Given the description of an element on the screen output the (x, y) to click on. 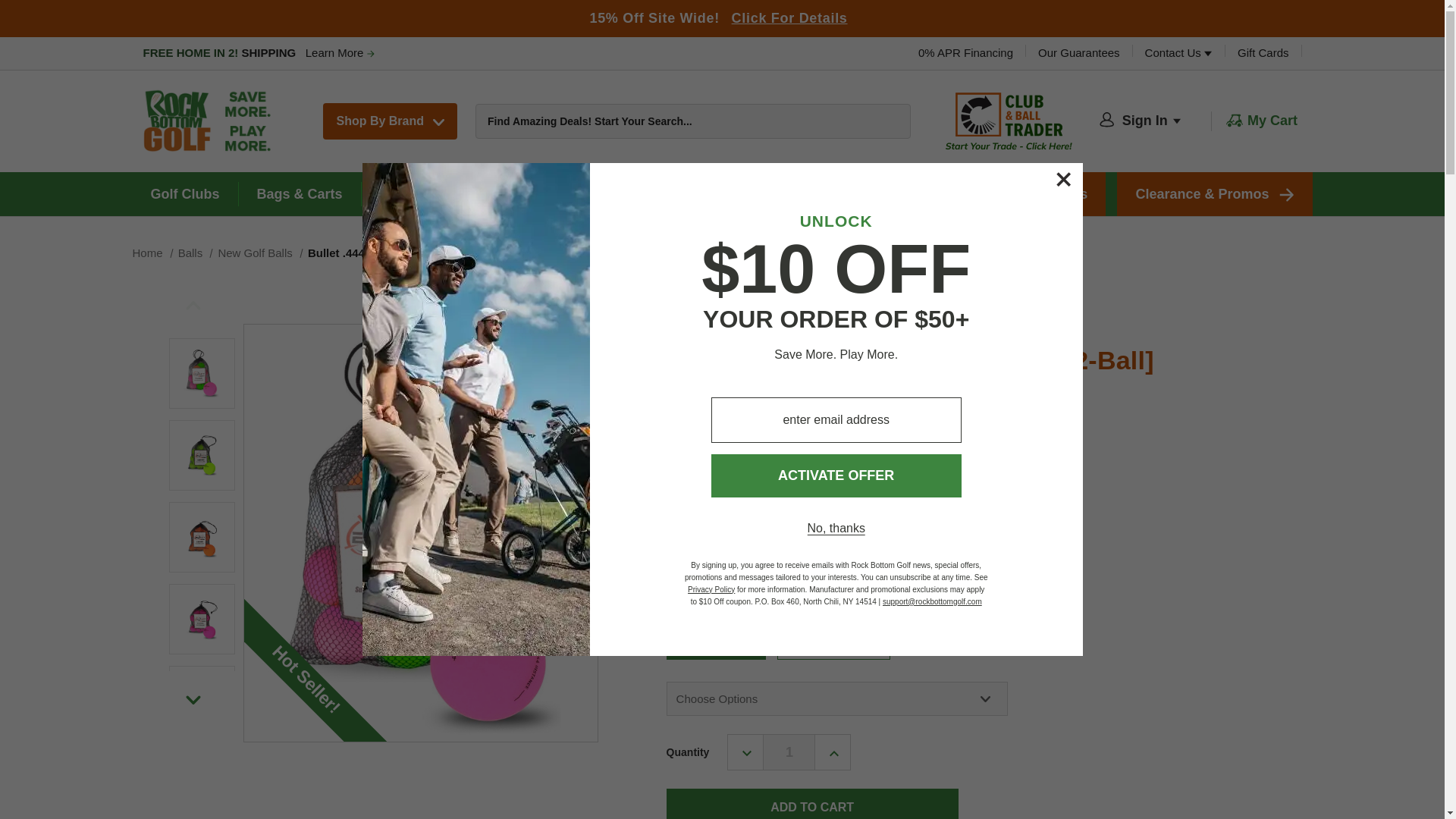
Add to Cart (812, 803)
1 (787, 751)
Click For Details (789, 18)
Contact Us (1178, 51)
Close Closes Web Dialog (1063, 179)
Gift Cards (1262, 51)
Our Guarantees (1078, 51)
Rock Bottom Golf (210, 120)
Shop By Brand (390, 121)
FREE HOME IN 2! SHIPPING   Learn More (258, 53)
